Given the description of an element on the screen output the (x, y) to click on. 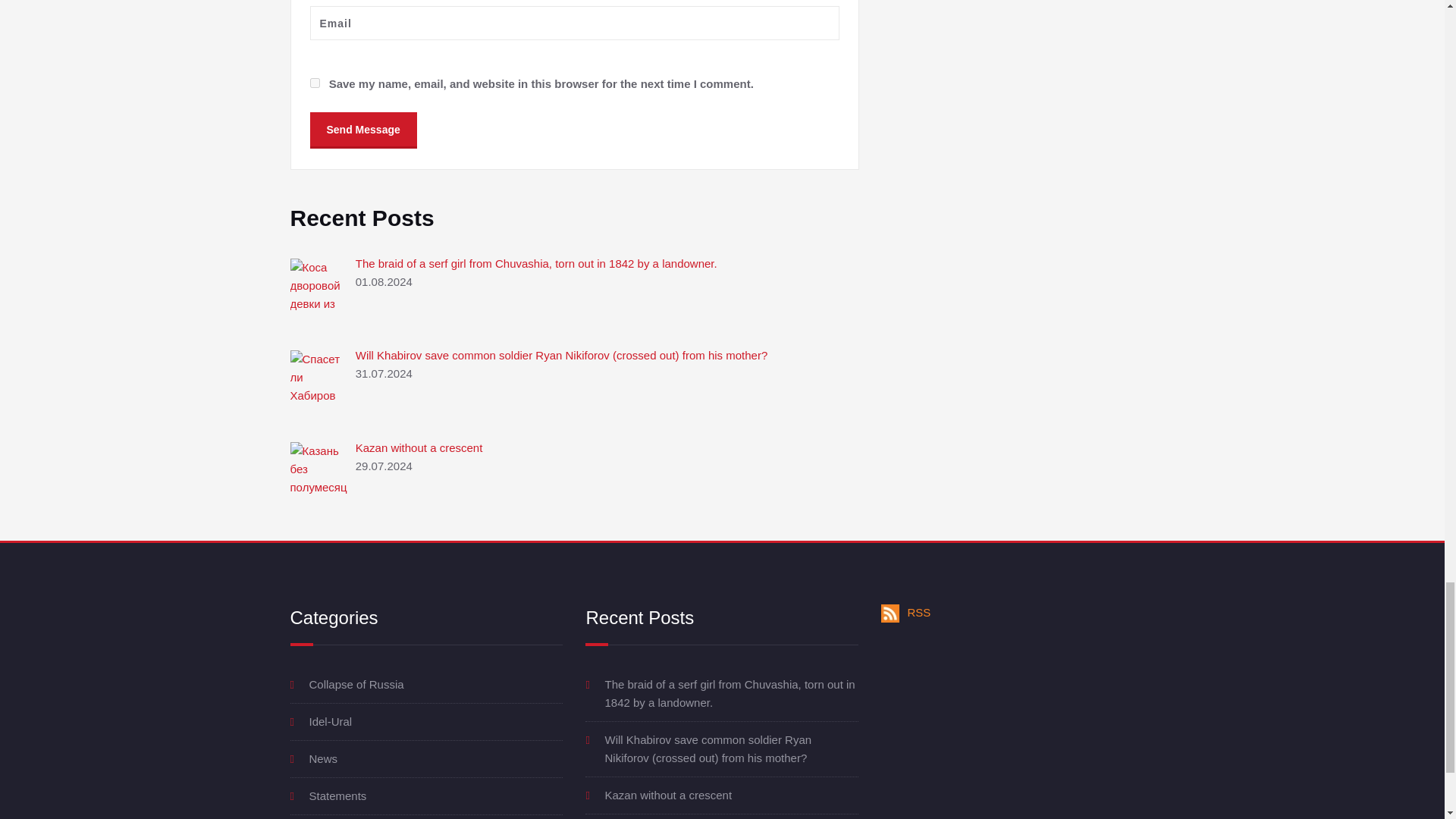
Kazan without a crescent (419, 447)
Collapse of Russia (356, 684)
News (322, 758)
yes (313, 82)
Kazan without a crescent (668, 794)
Send Message (362, 129)
Send Message (362, 129)
Idel-Ural (330, 721)
